Given the description of an element on the screen output the (x, y) to click on. 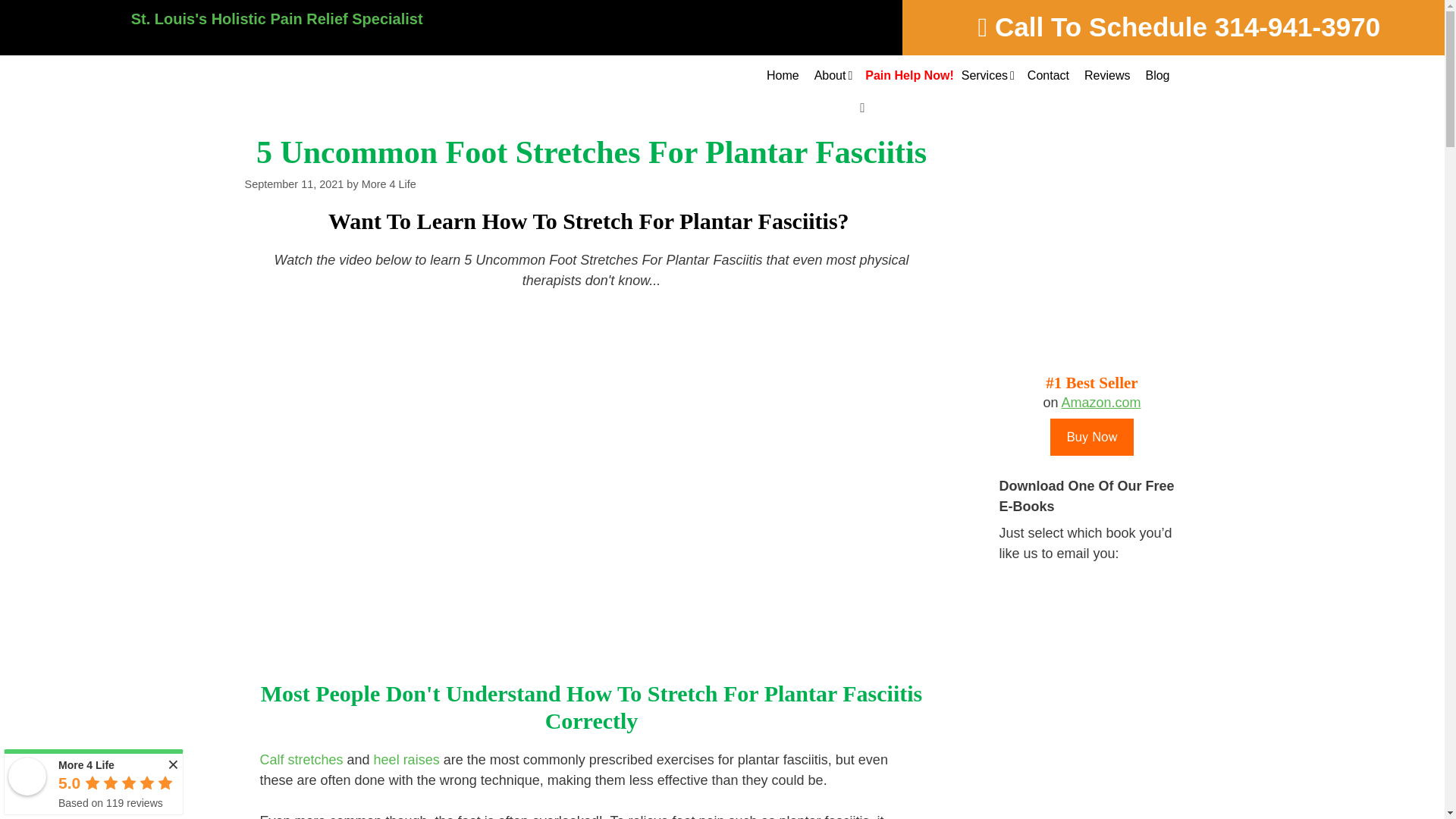
Home (782, 75)
More 4 Life (27, 776)
Pain Help Now! (905, 75)
About (832, 75)
View all posts by More 4 Life (388, 184)
Services (986, 75)
